Given the description of an element on the screen output the (x, y) to click on. 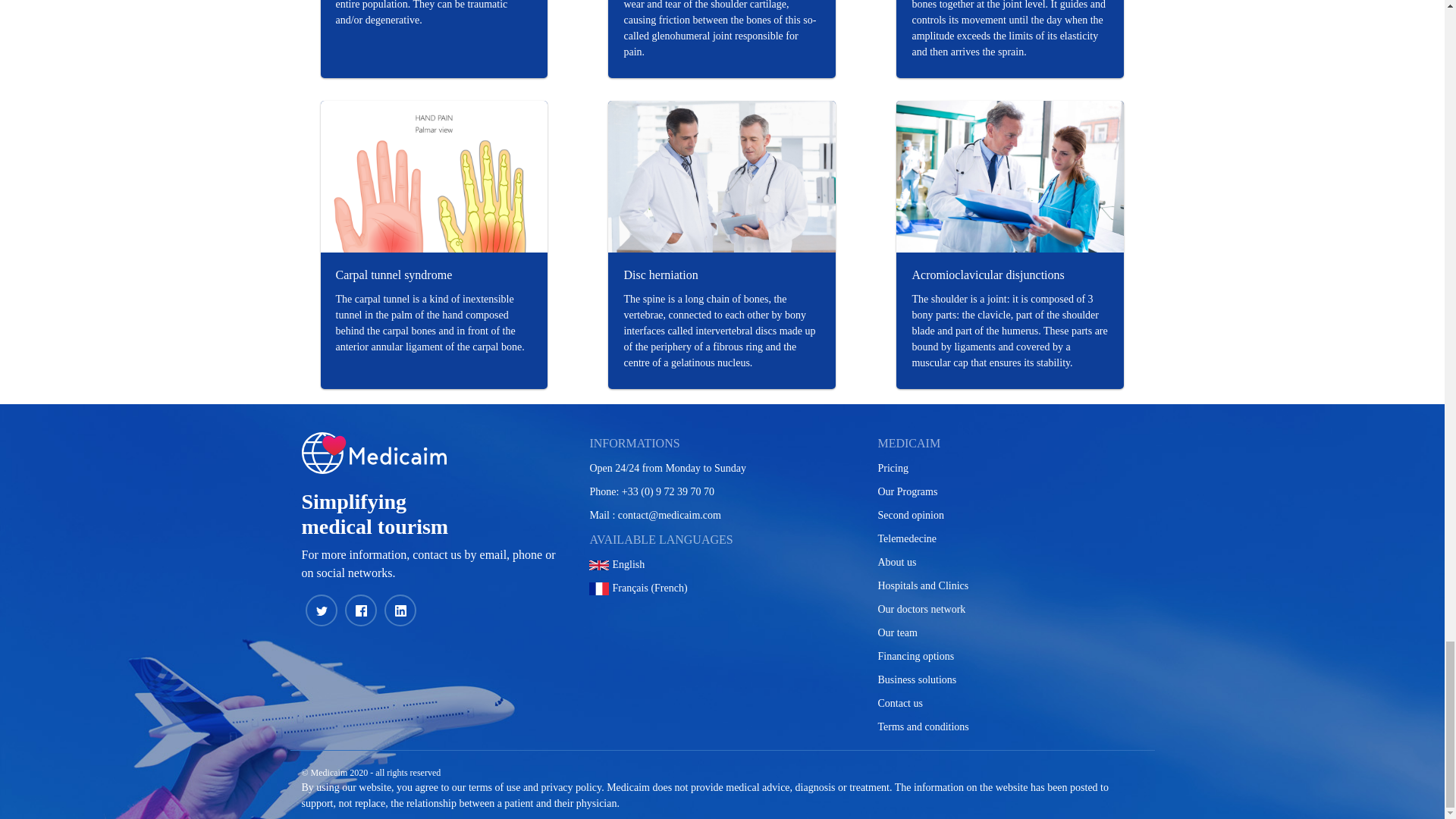
Second opinion (1009, 514)
English (721, 564)
Telemedecine (1009, 538)
Our Programs (1009, 491)
Pricing (1009, 467)
